Given the description of an element on the screen output the (x, y) to click on. 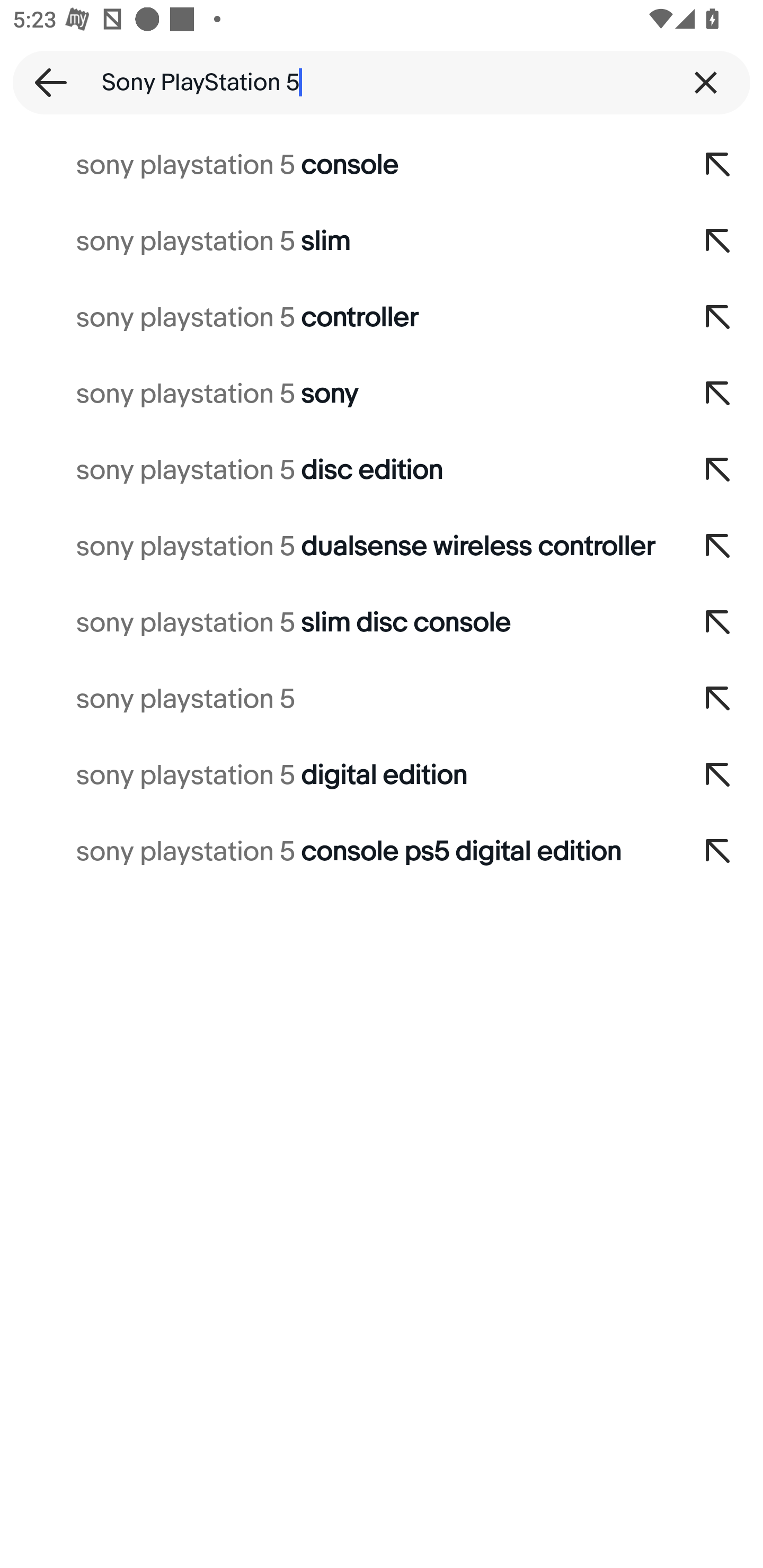
Back (44, 82)
Clear query (705, 82)
Sony PlayStation 5 (381, 82)
sony playstation 5 console (336, 165)
Add to search query,sony playstation 5 console (718, 165)
sony playstation 5 slim (336, 241)
Add to search query,sony playstation 5 slim (718, 241)
sony playstation 5 controller (336, 317)
Add to search query,sony playstation 5 controller (718, 317)
sony playstation 5 sony (336, 393)
Add to search query,sony playstation 5 sony (718, 393)
sony playstation 5 disc edition (336, 470)
sony playstation 5 dualsense wireless controller (336, 546)
sony playstation 5 slim disc console (336, 622)
sony playstation 5 (336, 698)
Add to search query,sony playstation 5 (718, 698)
sony playstation 5 digital edition (336, 774)
sony playstation 5 console ps5 digital edition (336, 851)
